Given the description of an element on the screen output the (x, y) to click on. 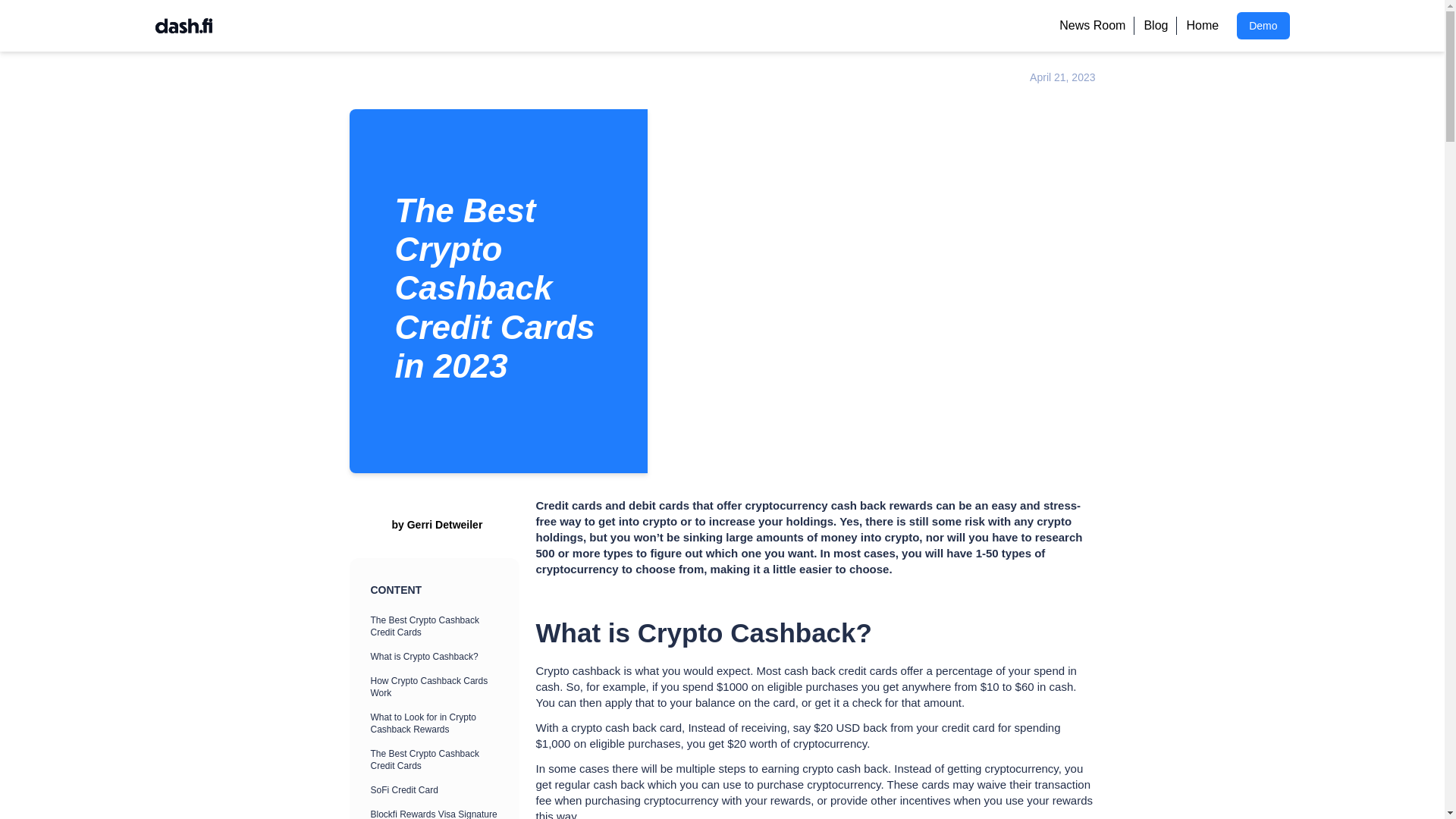
How Crypto Cashback Cards Work (436, 687)
Home (1202, 25)
News Room (1092, 25)
What is Crypto Cashback? (436, 656)
Blockfi Rewards Visa Signature Credit Card (436, 812)
The Best Crypto Cashback Credit Cards (436, 759)
Blog (1154, 25)
The Best Crypto Cashback Credit Cards (436, 625)
SoFi Credit Card (436, 789)
Demo (1262, 25)
